Given the description of an element on the screen output the (x, y) to click on. 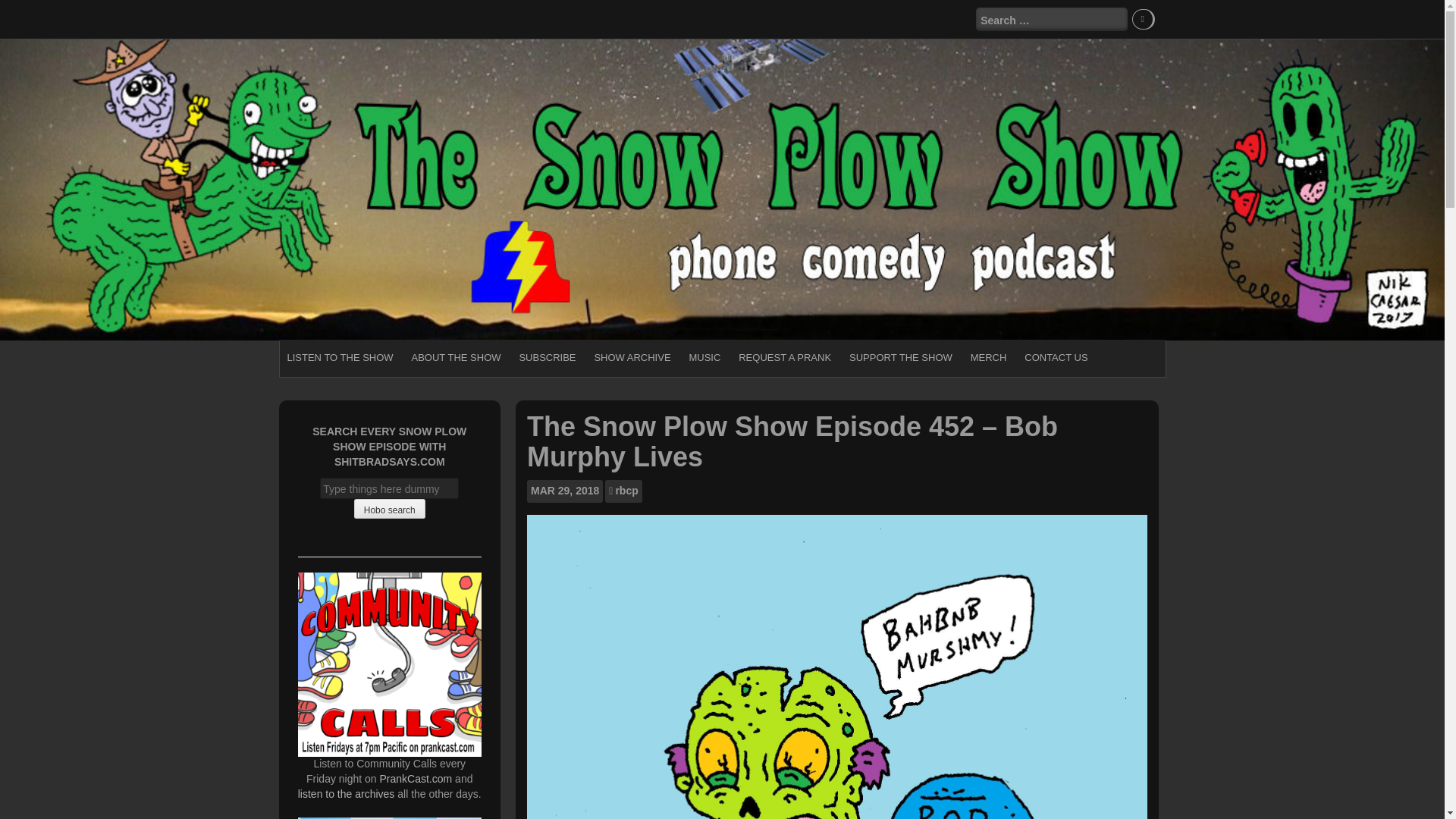
LISTEN TO THE SHOW (339, 358)
MUSIC (704, 358)
SHOW ARCHIVE (632, 358)
rbcp (625, 491)
MERCH (988, 358)
REQUEST A PRANK (784, 358)
Search (24, 9)
SUBSCRIBE (547, 358)
CONTACT US (1055, 358)
SUPPORT THE SHOW (900, 358)
Hobo search (389, 508)
ABOUT THE SHOW (456, 358)
